Given the description of an element on the screen output the (x, y) to click on. 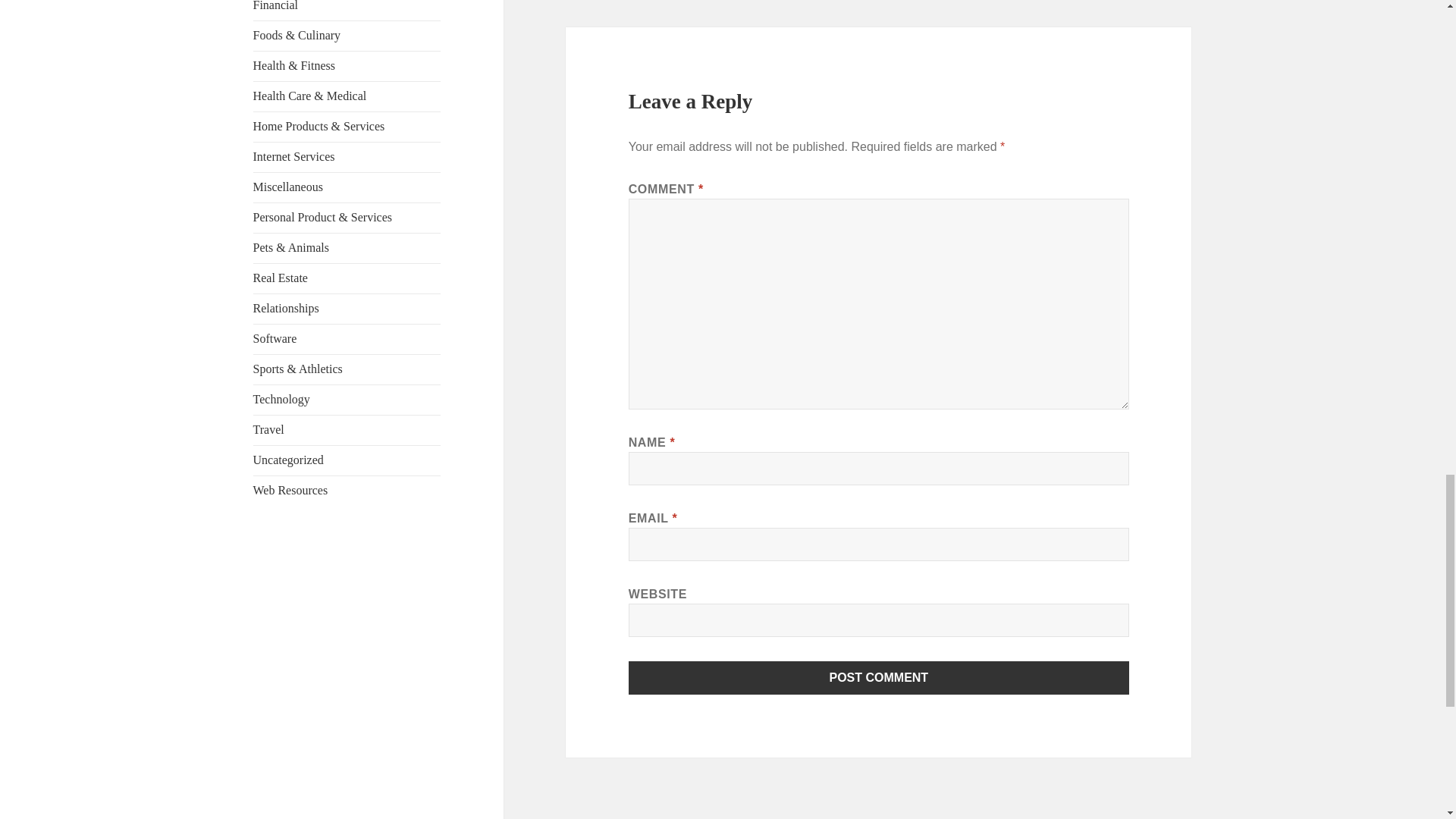
Post Comment (878, 677)
Financial (275, 5)
